Given the description of an element on the screen output the (x, y) to click on. 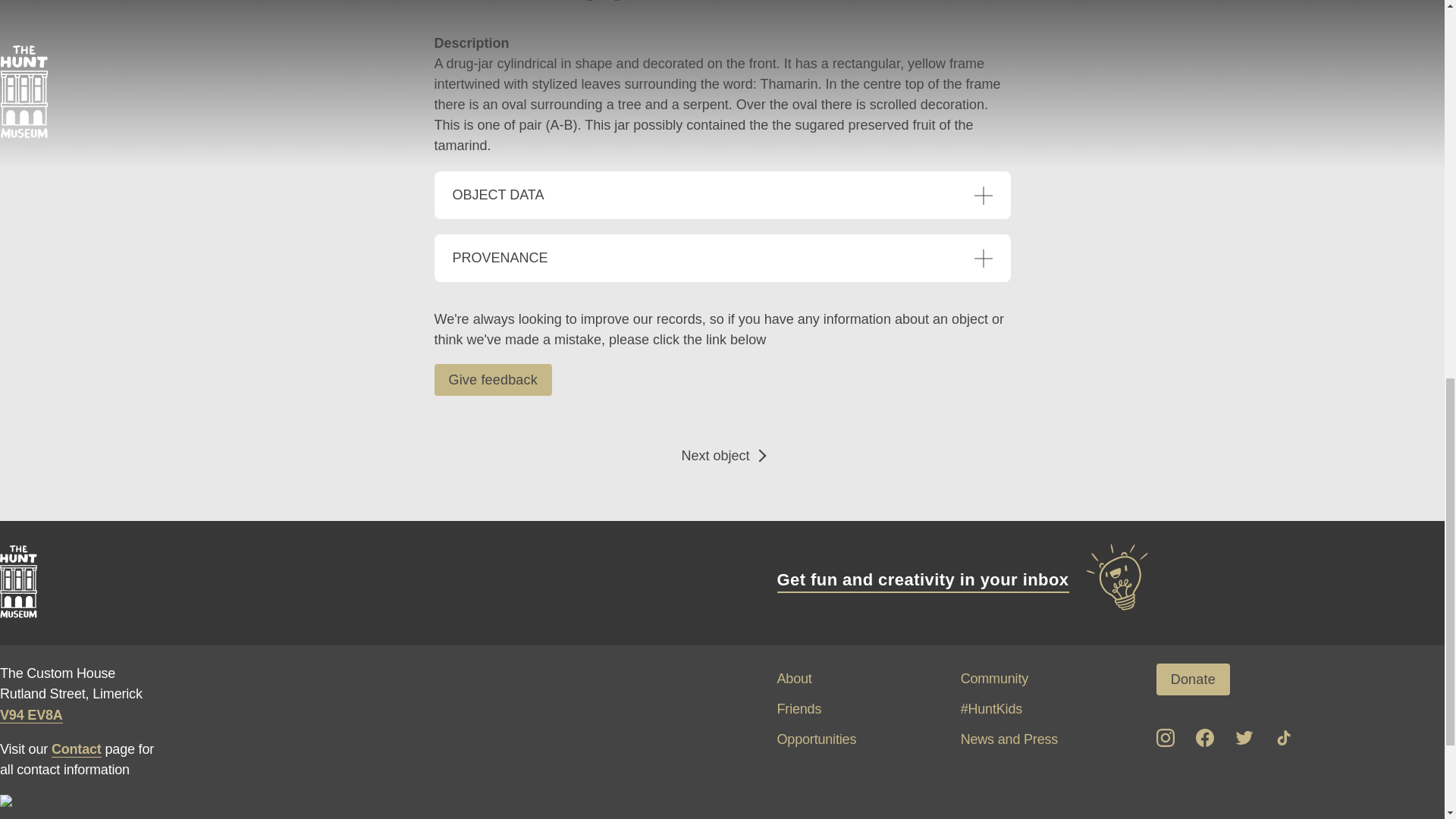
Contact (75, 749)
Donate (1193, 679)
About (793, 678)
Opportunities (816, 739)
V94 EV8A (31, 715)
Get fun and creativity in your inbox (963, 580)
Community (993, 678)
Next object (721, 455)
News and Press (1009, 739)
Give feedback (492, 379)
